Given the description of an element on the screen output the (x, y) to click on. 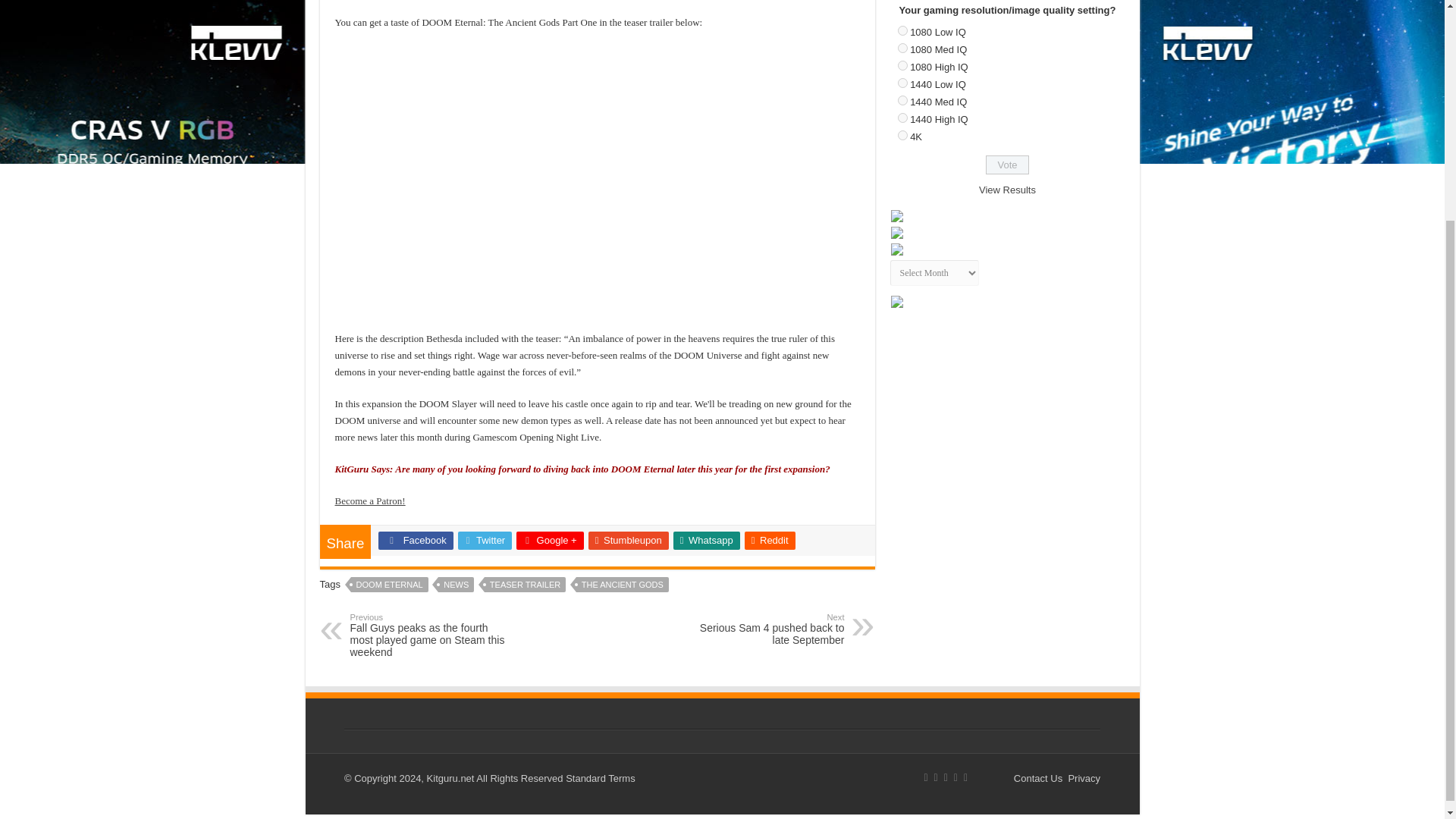
1380 (902, 48)
1379 (902, 30)
1385 (902, 135)
NEWS (456, 584)
Stumbleupon (628, 540)
THE ANCIENT GODS (622, 584)
1381 (902, 65)
Reddit (769, 540)
   Vote    (1007, 164)
Whatsapp (705, 540)
